Given the description of an element on the screen output the (x, y) to click on. 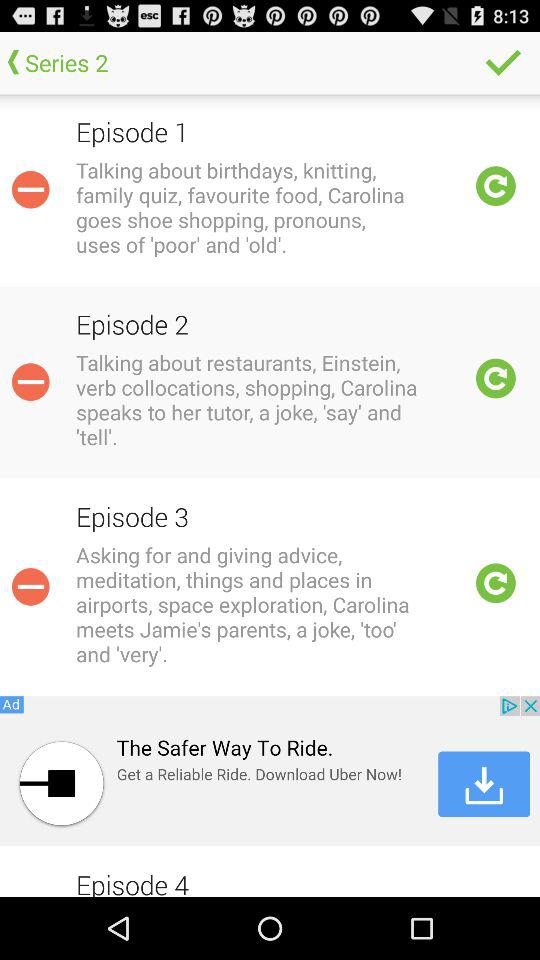
click to remove (30, 189)
